Given the description of an element on the screen output the (x, y) to click on. 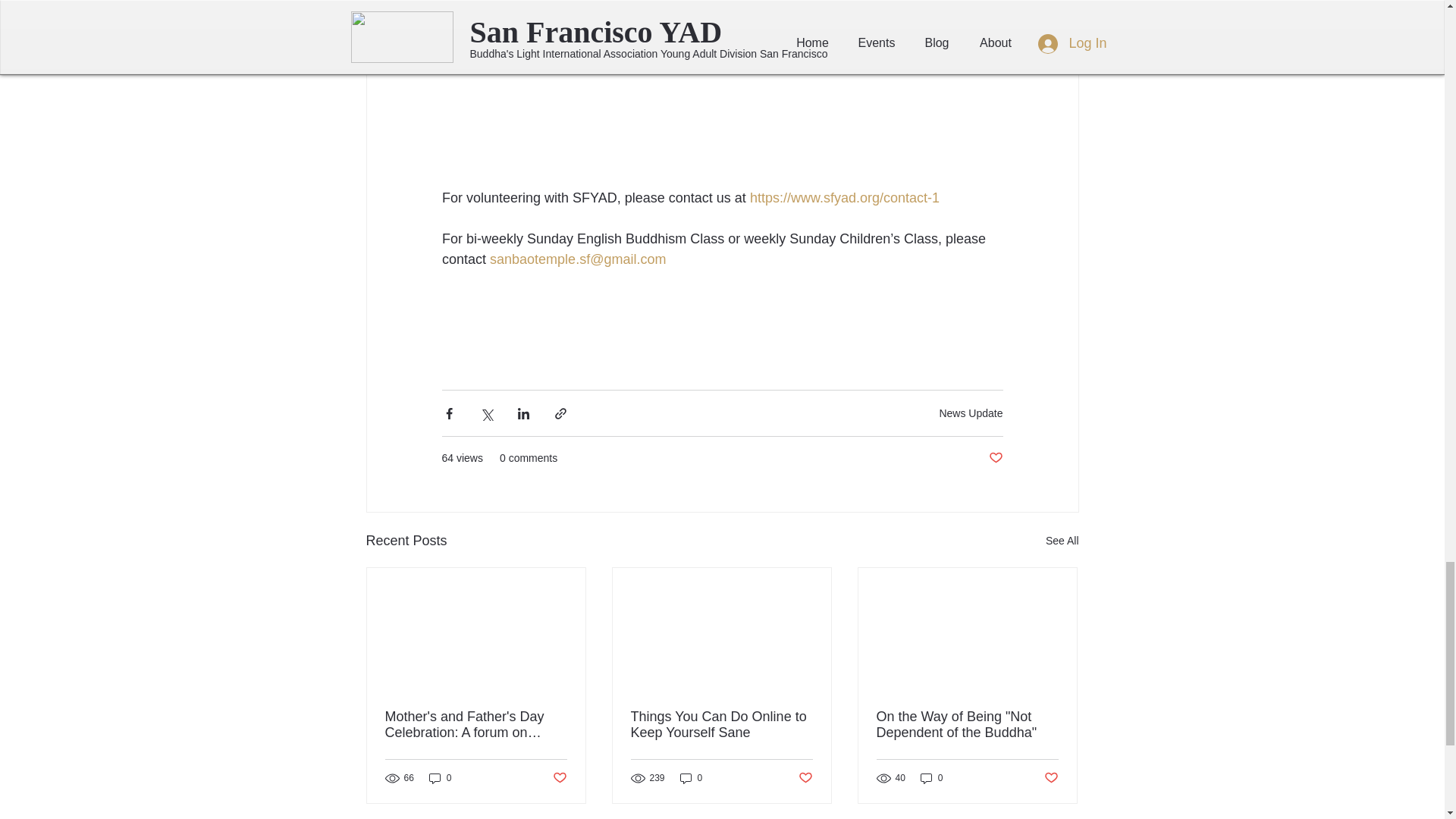
News Update (971, 412)
0 (440, 777)
Post not marked as liked (558, 778)
0 (691, 777)
Things You Can Do Online to Keep Yourself Sane (721, 725)
Post not marked as liked (995, 458)
On the Way of Being "Not Dependent of the Buddha" (967, 725)
See All (1061, 540)
Post not marked as liked (804, 778)
